Given the description of an element on the screen output the (x, y) to click on. 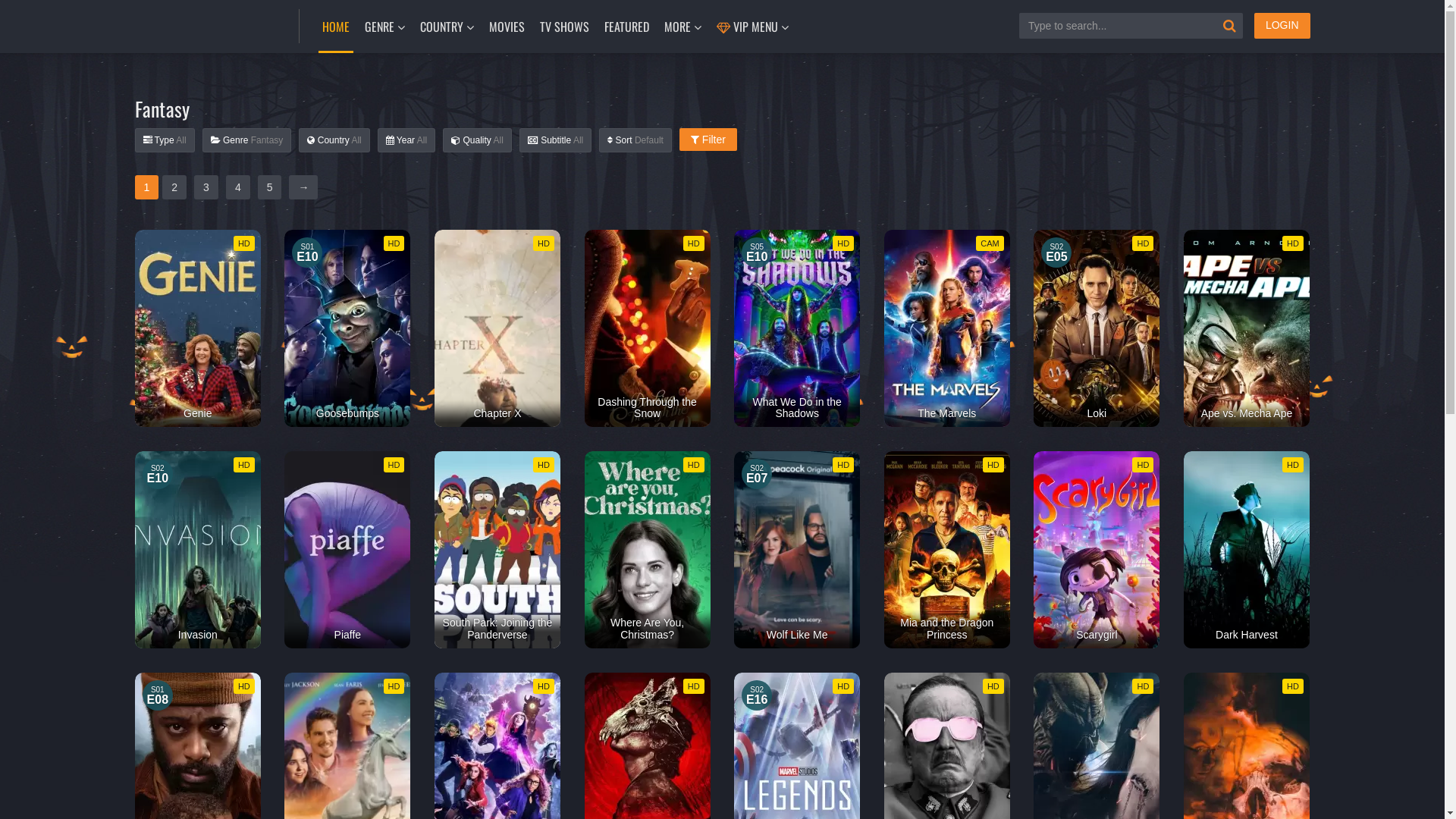
Genre Fantasy Element type: text (246, 140)
Invasion
S02
E10
HD Element type: text (197, 549)
Country All Element type: text (333, 140)
MORE Element type: text (681, 26)
Goosebumps
S01
E10
HD Element type: text (347, 327)
Mia and the Dragon Princess
HD Element type: text (947, 549)
Type All Element type: text (164, 140)
Scarygirl
HD Element type: text (1096, 549)
South Park: Joining the Panderverse
HD Element type: text (497, 549)
Genie
HD Element type: text (197, 327)
4 Element type: text (237, 187)
Piaffe
HD Element type: text (347, 549)
TV SHOWS Element type: text (563, 26)
Year All Element type: text (406, 140)
Quality All Element type: text (476, 140)
GENRE Element type: text (384, 26)
Dashing Through the Snow
HD Element type: text (647, 327)
The Marvels
CAM Element type: text (947, 327)
LOGIN Element type: text (1282, 25)
123Cartoon.com - Watch Cartoon Full HD free Online Element type: text (205, 24)
2 Element type: text (174, 187)
FEATURED Element type: text (626, 26)
Subtitle All Element type: text (555, 140)
Loki
S02
E05
HD Element type: text (1096, 327)
Wolf Like Me
S02
E07
HD Element type: text (796, 549)
Filter Element type: text (708, 139)
MOVIES Element type: text (506, 26)
COUNTRY Element type: text (445, 26)
What We Do in the Shadows
S05
E10
HD Element type: text (796, 327)
Dark Harvest
HD Element type: text (1246, 549)
5 Element type: text (269, 187)
3 Element type: text (206, 187)
HOME Element type: text (335, 26)
VIP MENU Element type: text (752, 26)
Where Are You, Christmas?
HD Element type: text (647, 549)
Chapter X
HD Element type: text (497, 327)
Sort Default Element type: text (635, 140)
Ape vs. Mecha Ape
HD Element type: text (1246, 327)
